Given the description of an element on the screen output the (x, y) to click on. 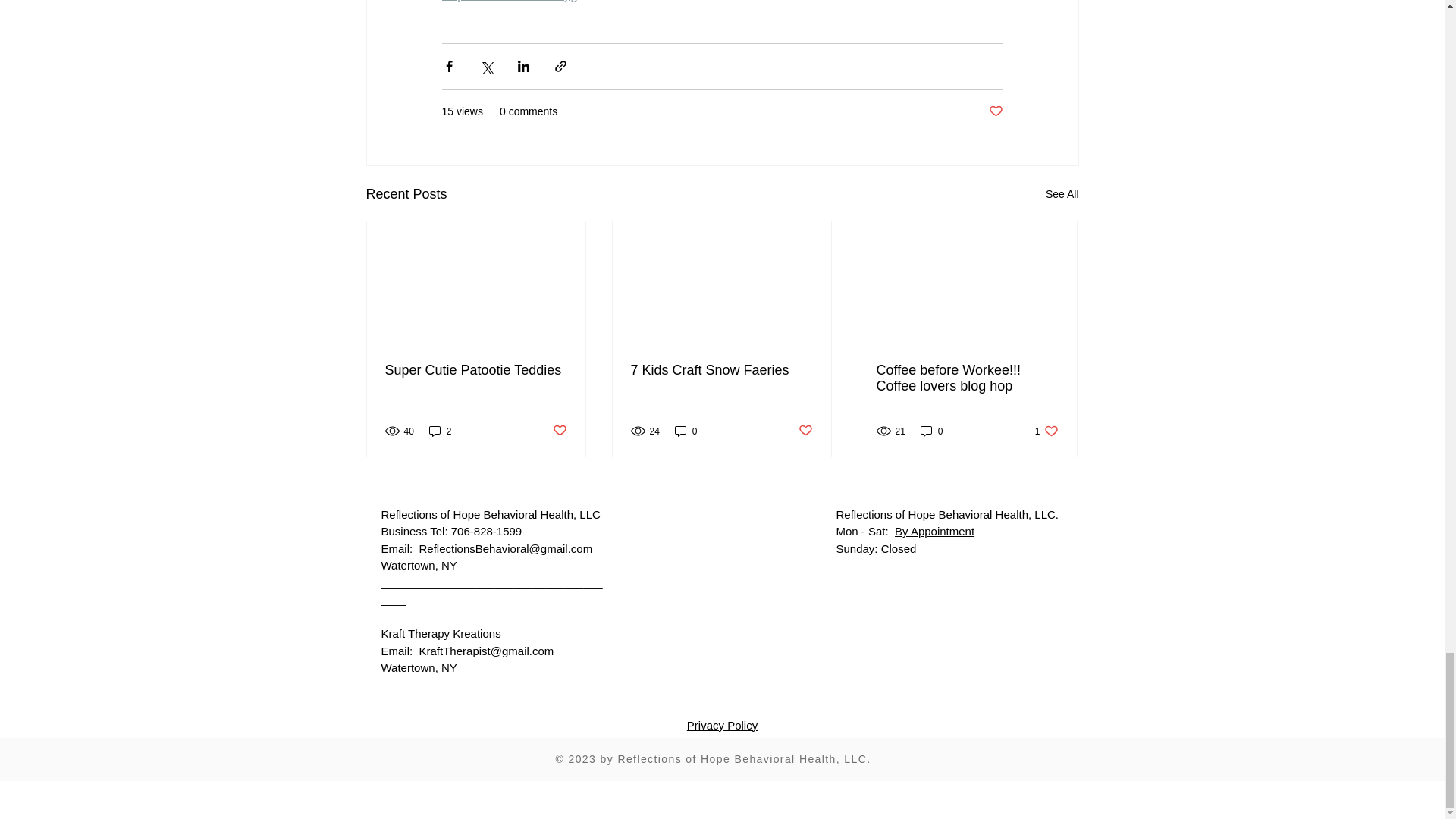
Post not marked as liked (558, 430)
Super Cutie Patootie Teddies (476, 370)
See All (1061, 194)
0 (685, 431)
Post not marked as liked (995, 110)
7 Kids Craft Snow Faeries (721, 370)
2 (440, 431)
Coffee before Workee!!! Coffee lovers blog hop (967, 377)
Post not marked as liked (804, 430)
